Given the description of an element on the screen output the (x, y) to click on. 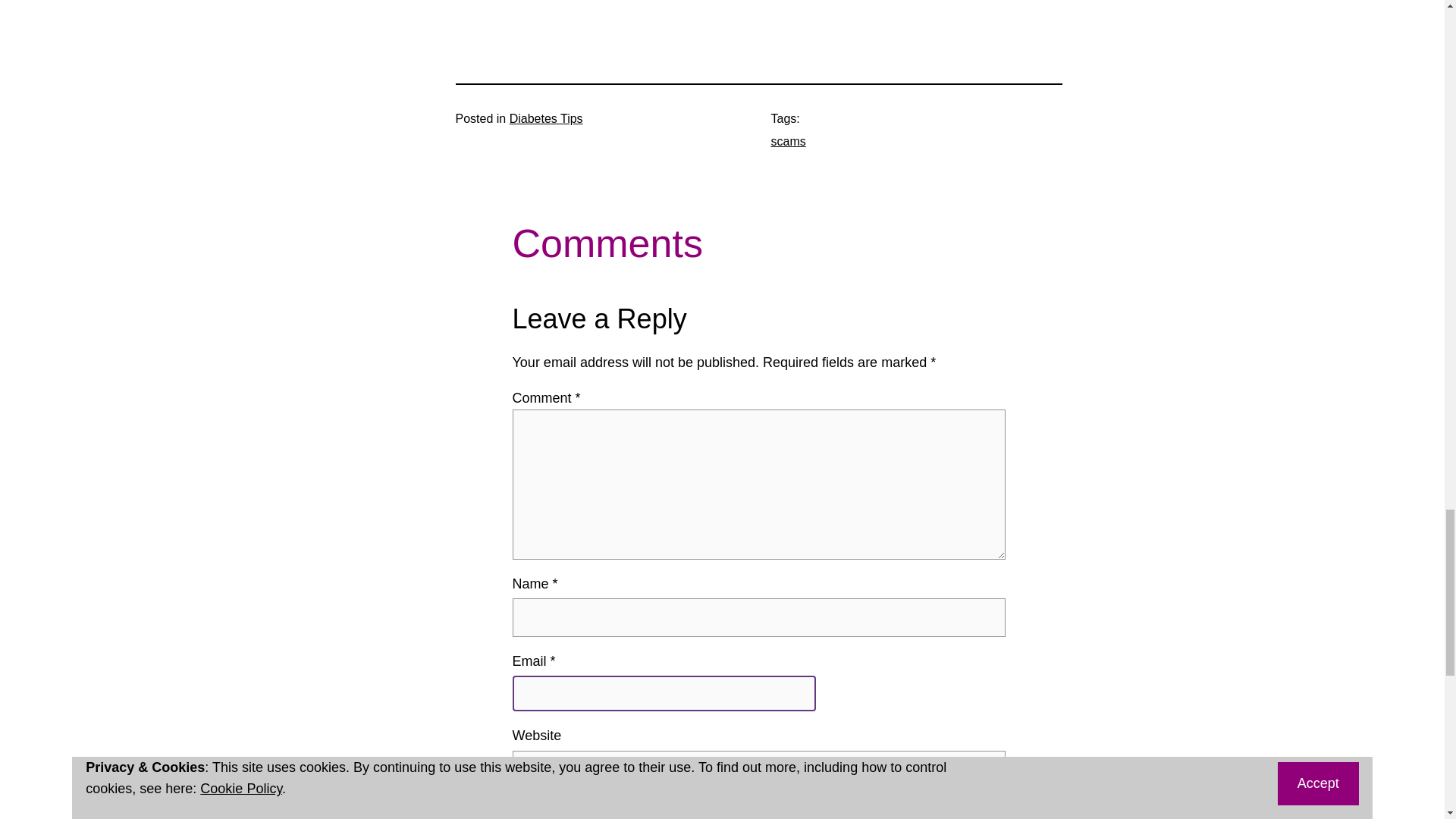
Diabetes Tips (546, 118)
scams (787, 141)
